Given the description of an element on the screen output the (x, y) to click on. 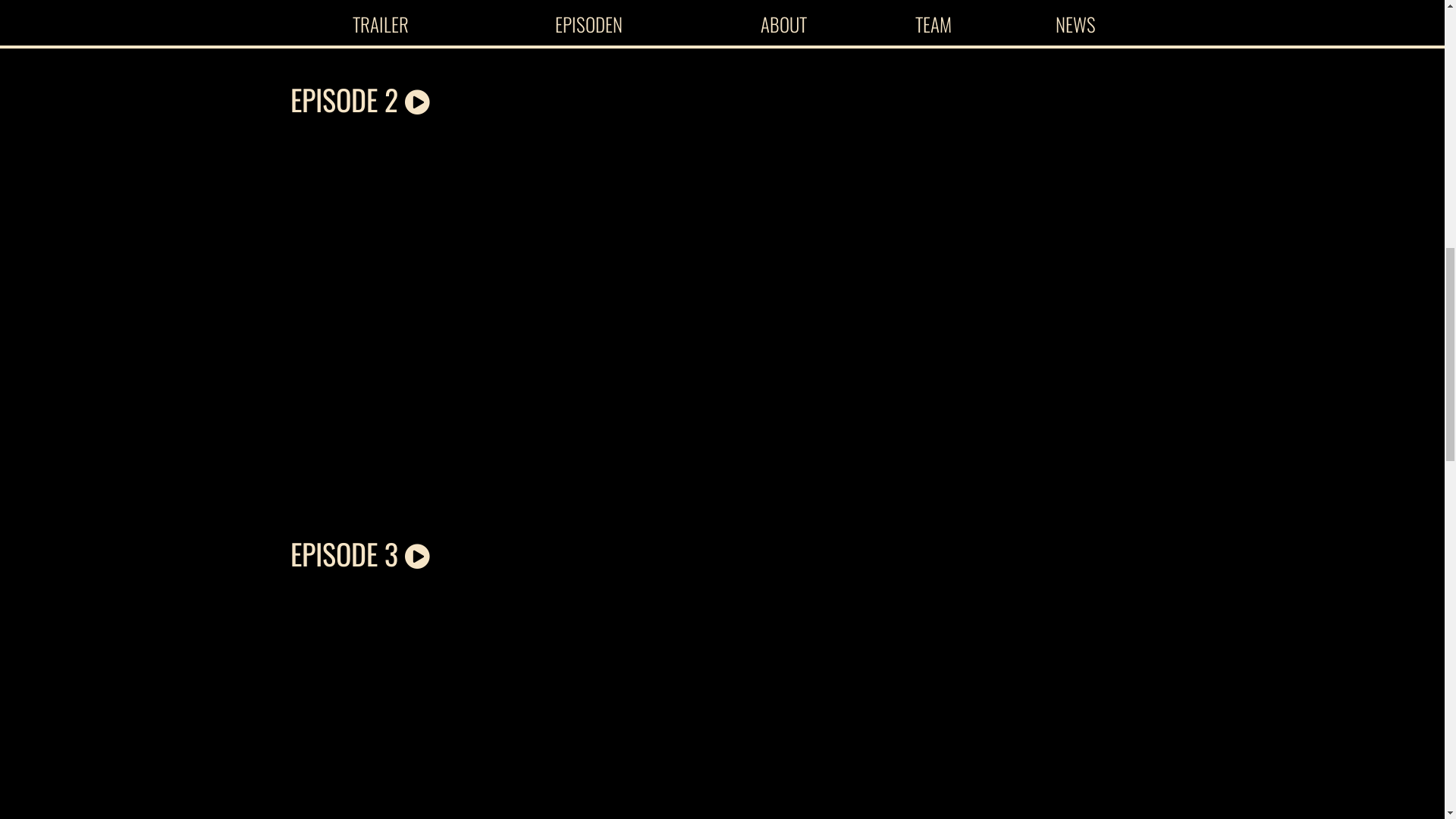
ENGLISH Element type: text (1396, 15)
DEUTSCH Element type: text (1332, 15)
